Given the description of an element on the screen output the (x, y) to click on. 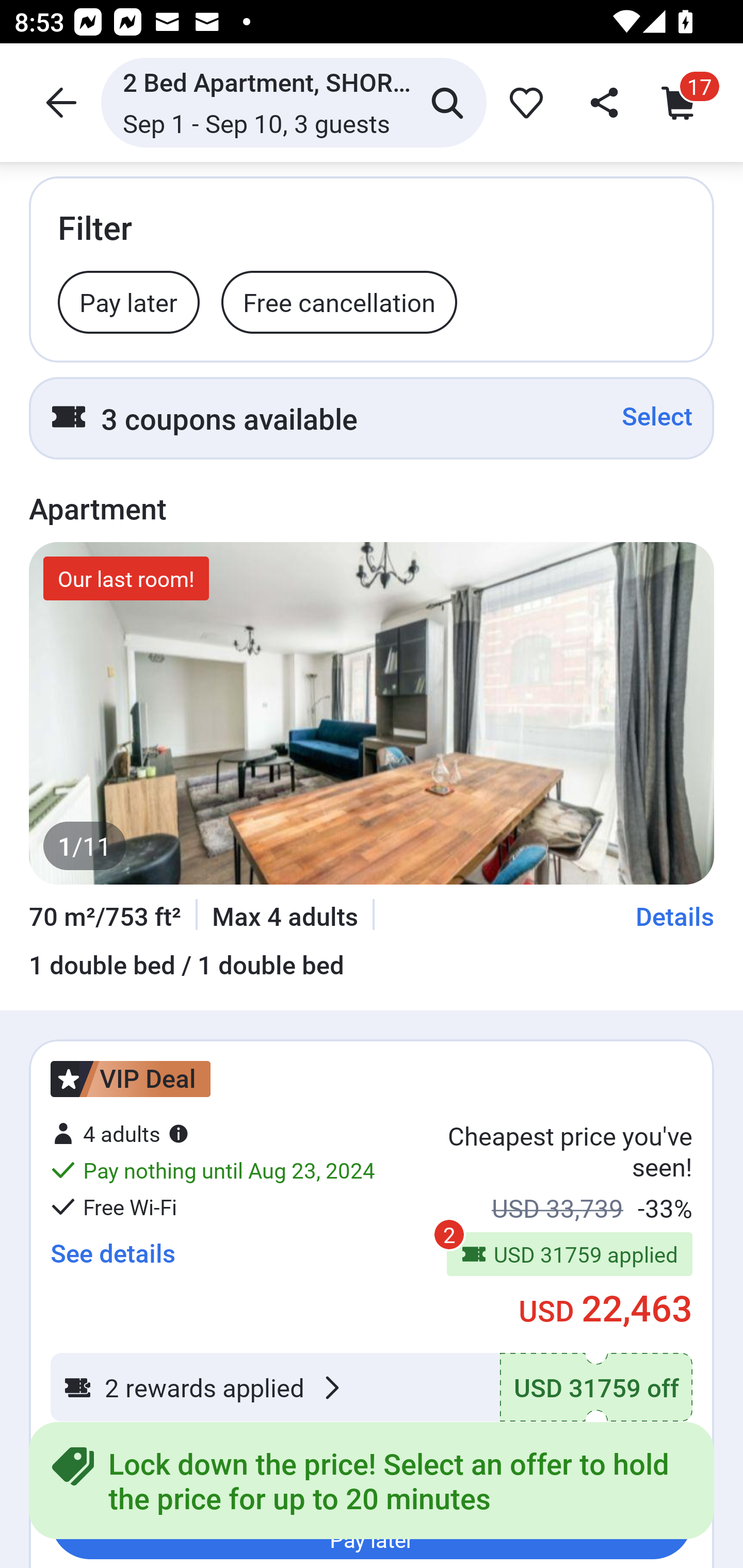
header icon (59, 102)
favorite_icon 0dbe6efb (522, 102)
share_header_icon (601, 102)
Cart icon cart_item_count 17 (683, 102)
Pay later (128, 301)
Free cancellation (338, 301)
Select (656, 416)
3 coupons available Select (371, 417)
image (371, 713)
Details (674, 916)
See details (112, 1252)
